Given the description of an element on the screen output the (x, y) to click on. 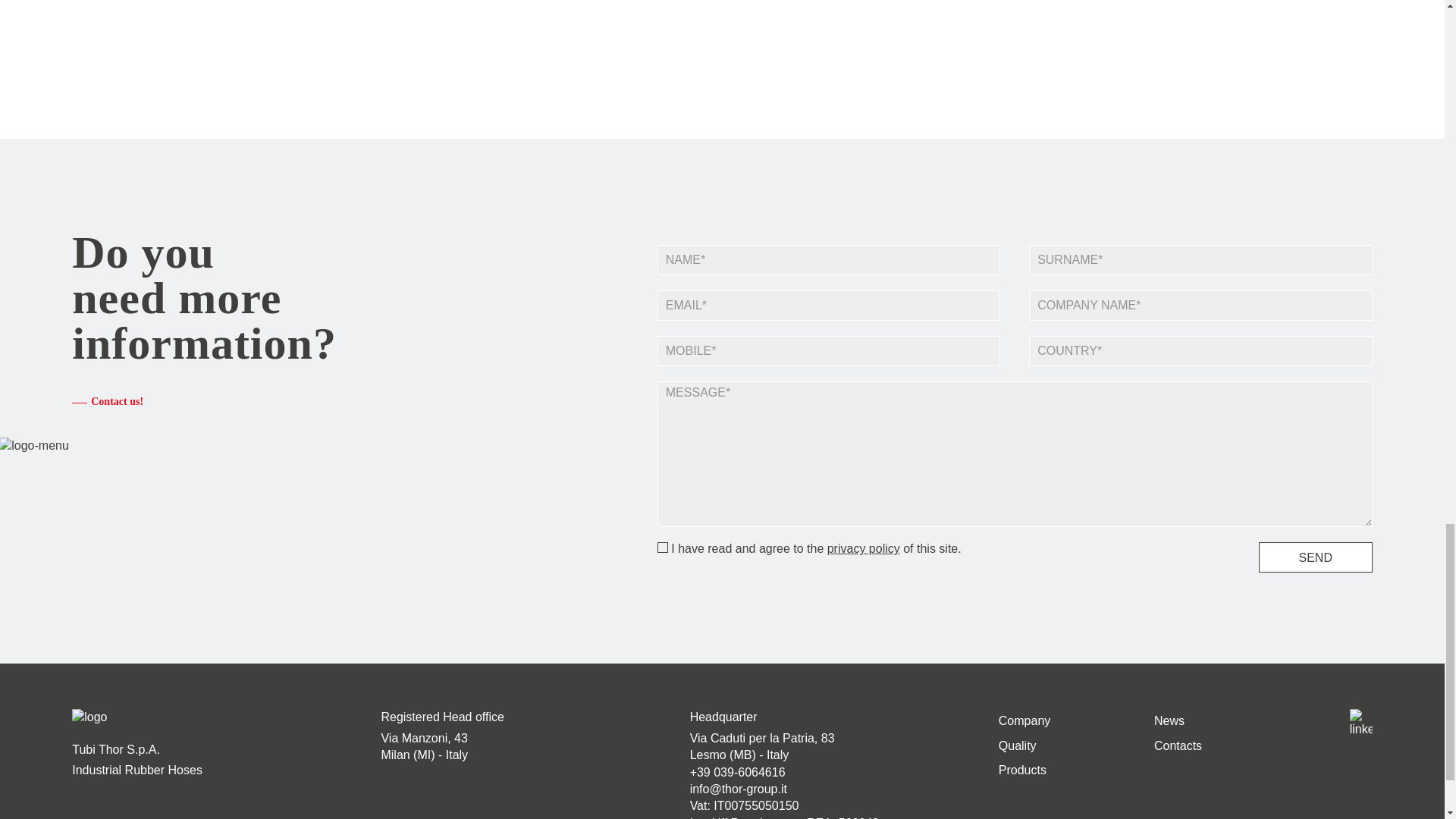
Products (1022, 769)
News (1169, 720)
Company (1023, 720)
1 (663, 547)
Contacts (1178, 745)
SEND (1316, 557)
Quality (1017, 745)
SEND (1316, 557)
privacy policy (863, 548)
